Given the description of an element on the screen output the (x, y) to click on. 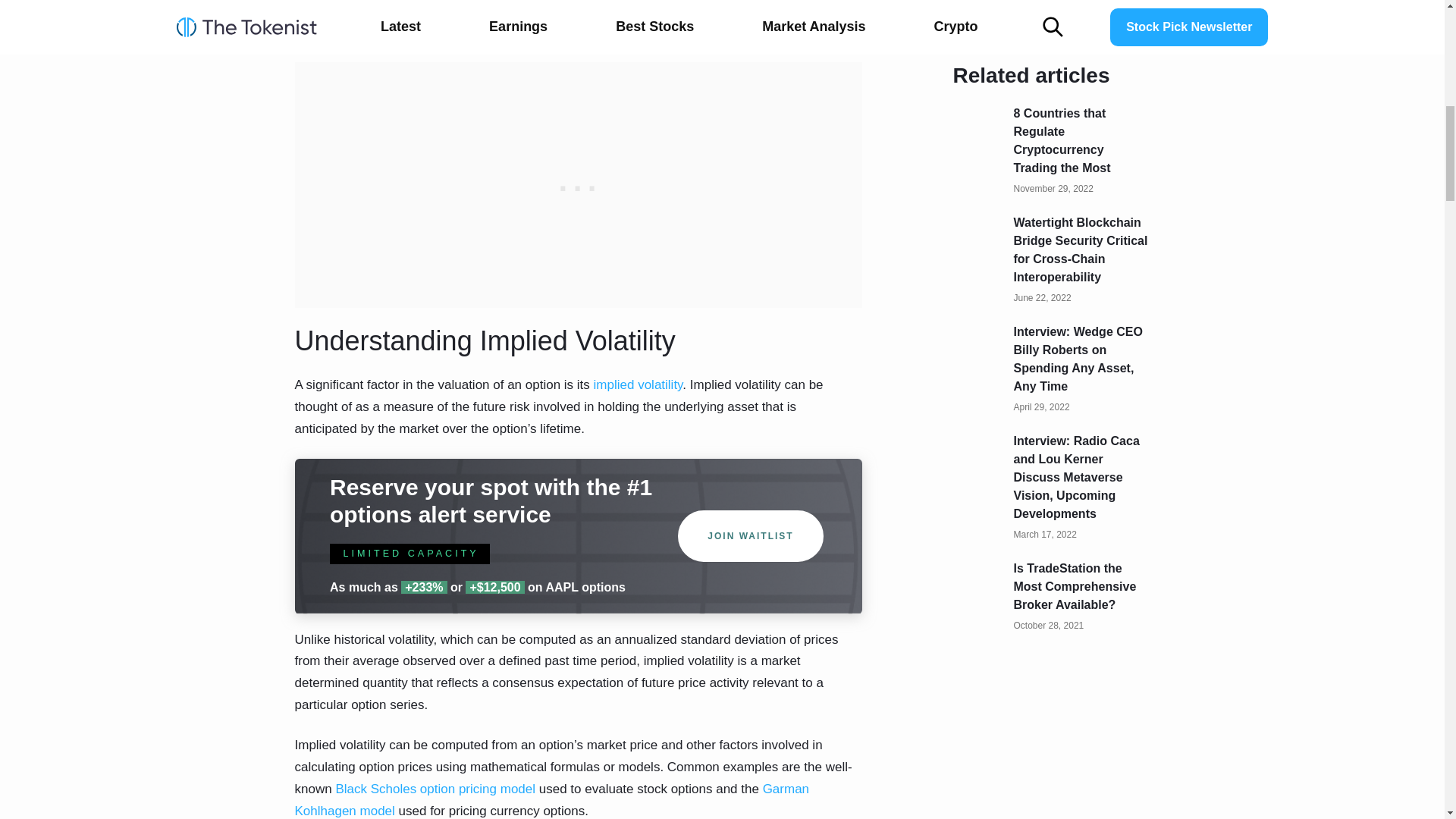
Garman Kohlhagen model (551, 800)
implied volatility (638, 384)
JOIN WAITLIST (751, 535)
Black Scholes option pricing model (434, 789)
